Given the description of an element on the screen output the (x, y) to click on. 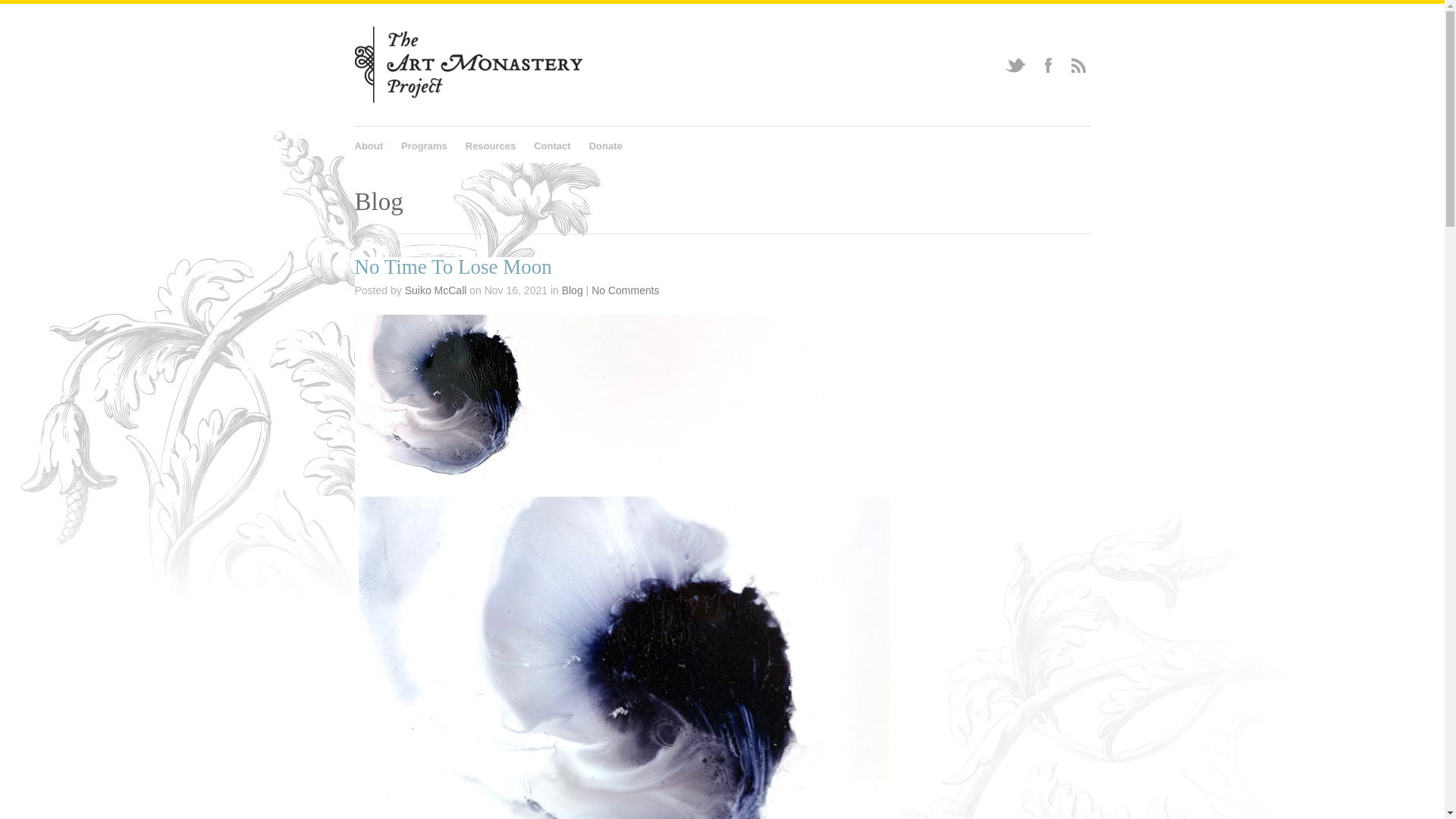
Posts by Suiko McCall (435, 290)
Donate (606, 144)
No Time To Lose Moon (628, 397)
Programs (423, 144)
Blog (572, 290)
No Time To Lose Moon (453, 266)
Resources (490, 144)
Contact (552, 144)
Suiko McCall (435, 290)
